Given the description of an element on the screen output the (x, y) to click on. 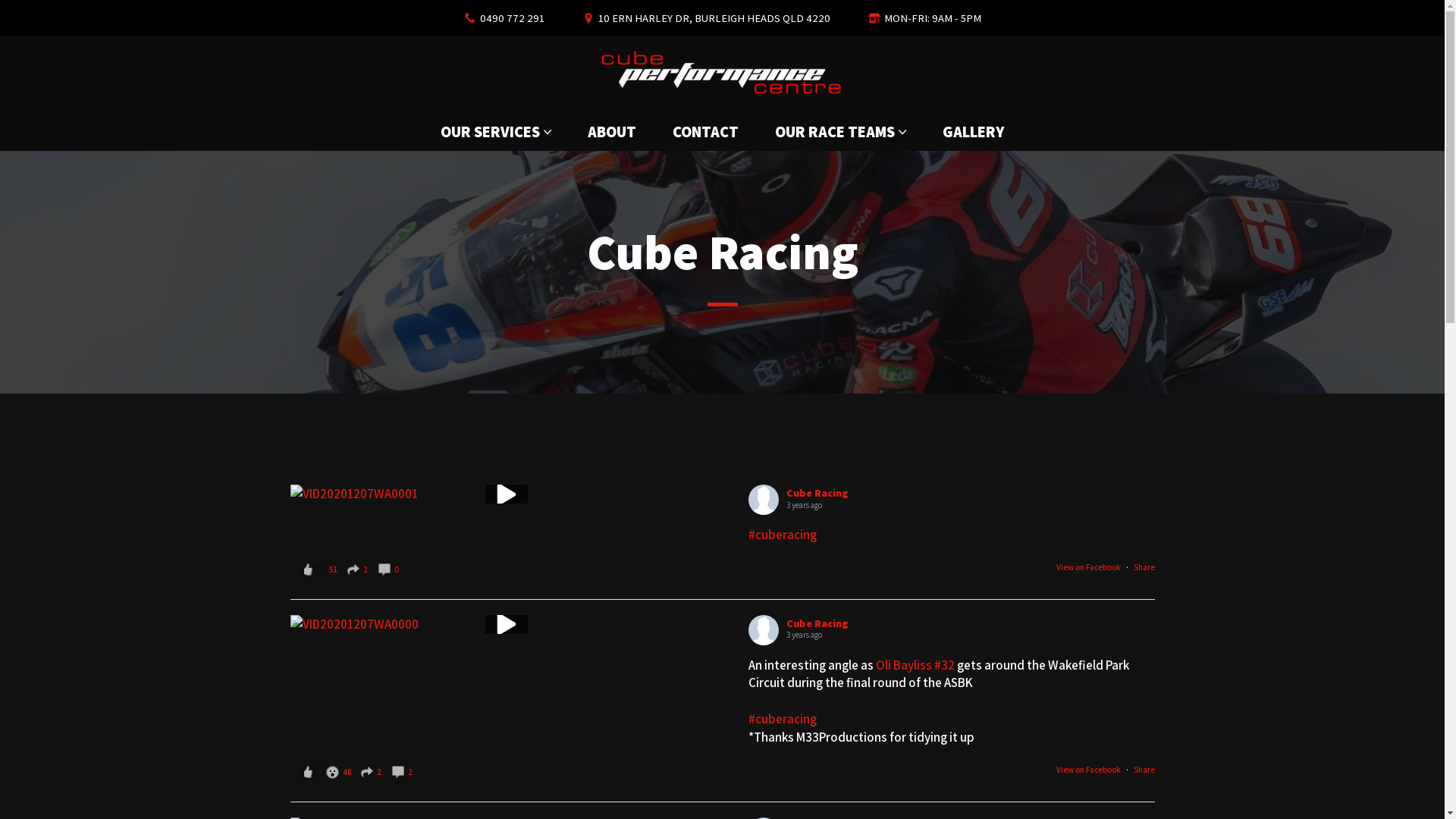
VID20201207WA0001 Element type: hover (505, 494)
Cube Racing Element type: text (817, 623)
Skip to content Element type: text (11, 31)
ABOUT Element type: text (611, 131)
CONTACT Element type: text (705, 131)
#cuberacing Element type: text (782, 534)
OUR SERVICES Element type: text (489, 131)
OUR RACE TEAMS Element type: text (834, 131)
0490 772 291 Element type: text (511, 17)
Share Element type: text (1143, 769)
GALLERY Element type: text (973, 131)
VID20201207WA0000 Element type: hover (505, 624)
View Comments
Likes:
48
Shares:
2
Comments:
2 Element type: text (356, 772)
Share Element type: text (1143, 566)
#cuberacing Element type: text (782, 718)
View on Facebook Element type: text (1087, 566)
Cube Racing Element type: text (817, 492)
Oli Bayliss #32 Element type: text (914, 664)
View Comments
Likes:
51
Shares:
2
Comments:
0 Element type: text (349, 569)
View on Facebook Element type: text (1087, 769)
Cube Performance Centre Element type: hover (722, 74)
